Given the description of an element on the screen output the (x, y) to click on. 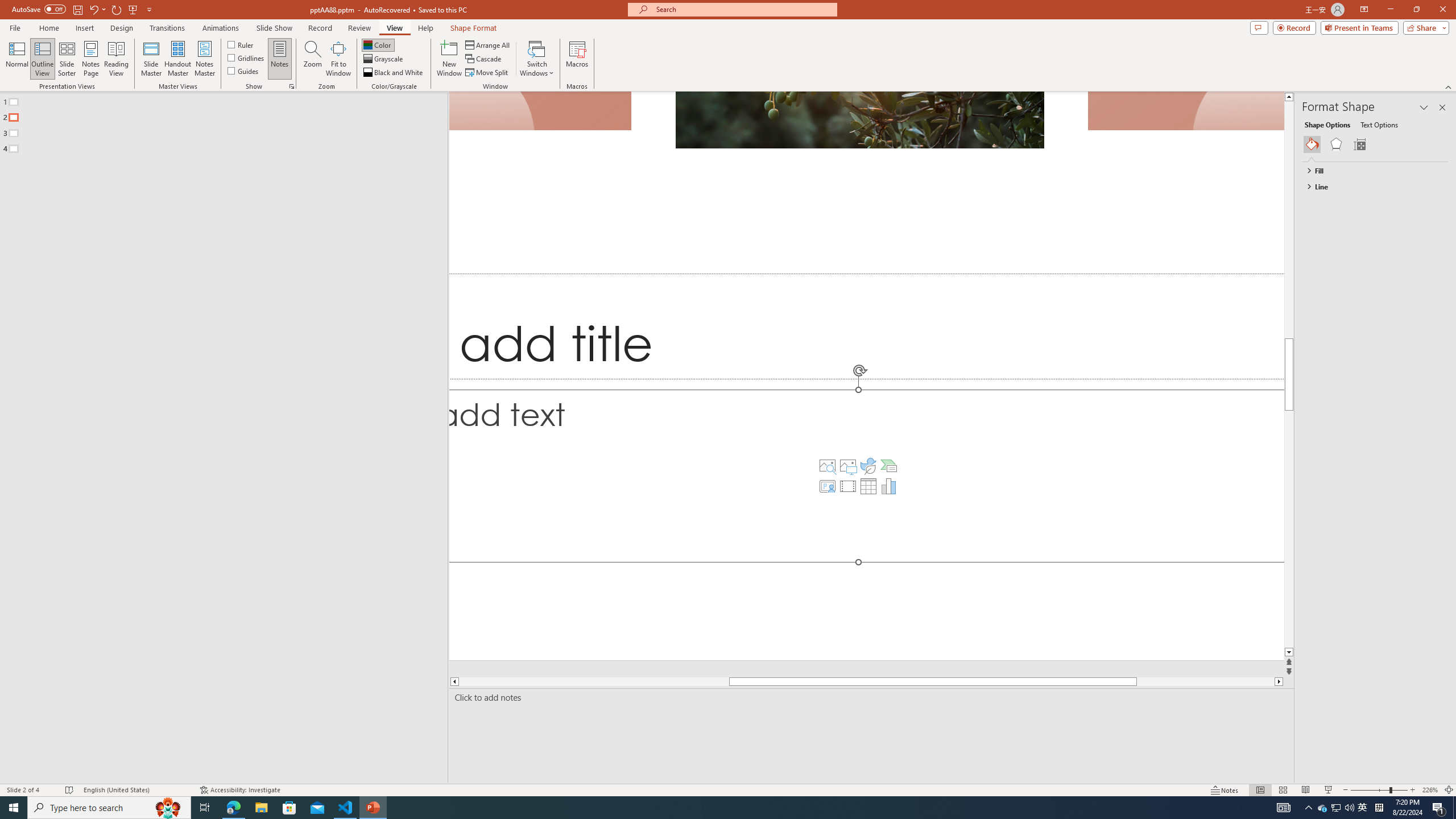
Camera 7, No camera detected. (1185, 111)
Class: NetUIGalleryContainer (1375, 144)
Close up of an olive branch on a sunset (859, 119)
Handout Master (177, 58)
